Given the description of an element on the screen output the (x, y) to click on. 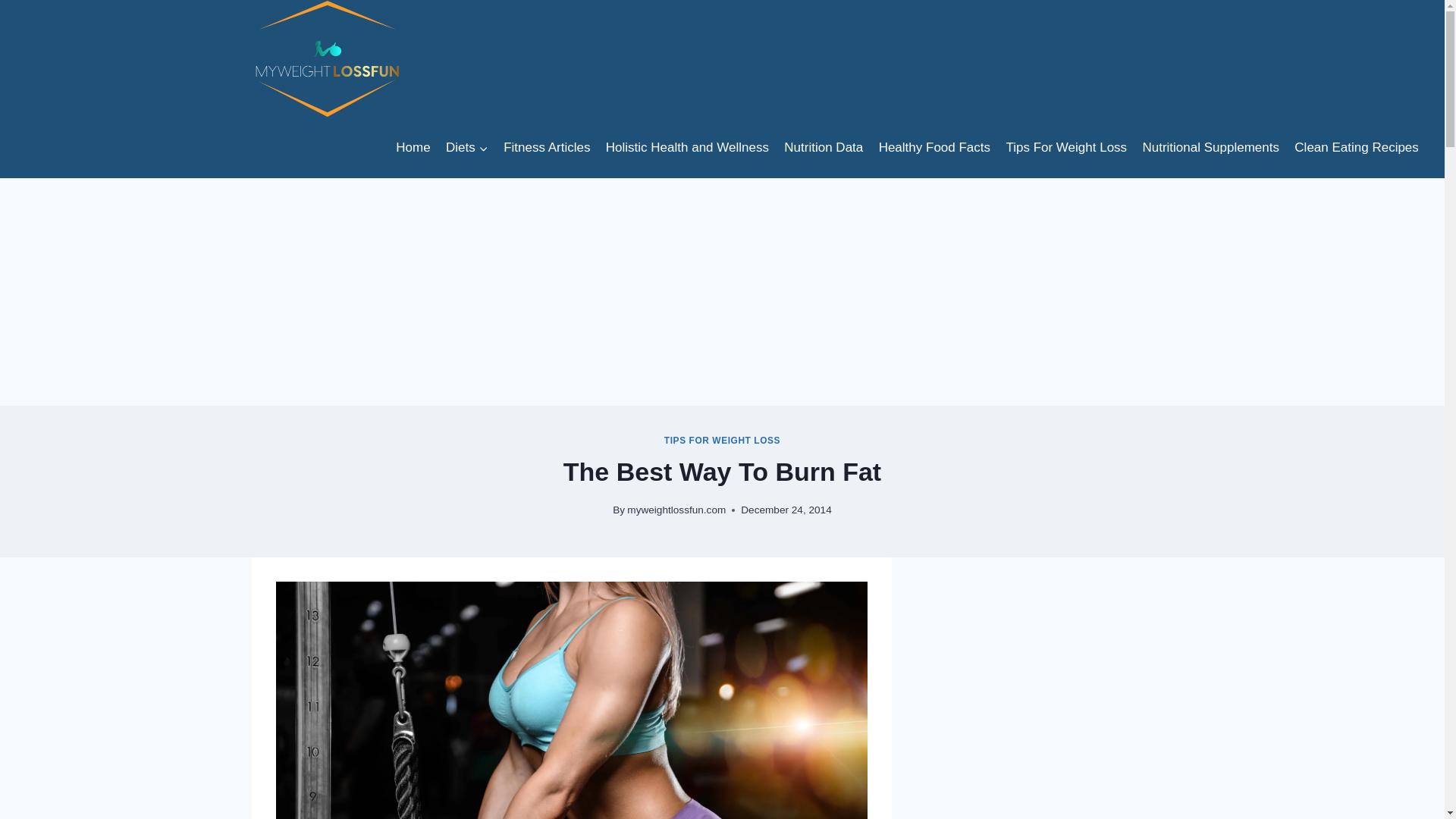
myweightlossfun.com (676, 509)
Diets (467, 147)
TIPS FOR WEIGHT LOSS (721, 439)
Tips For Weight Loss (1065, 147)
Home (413, 147)
Fitness Articles (547, 147)
Healthy Food Facts (933, 147)
Clean Eating Recipes (1356, 147)
Holistic Health and Wellness (687, 147)
